Given the description of an element on the screen output the (x, y) to click on. 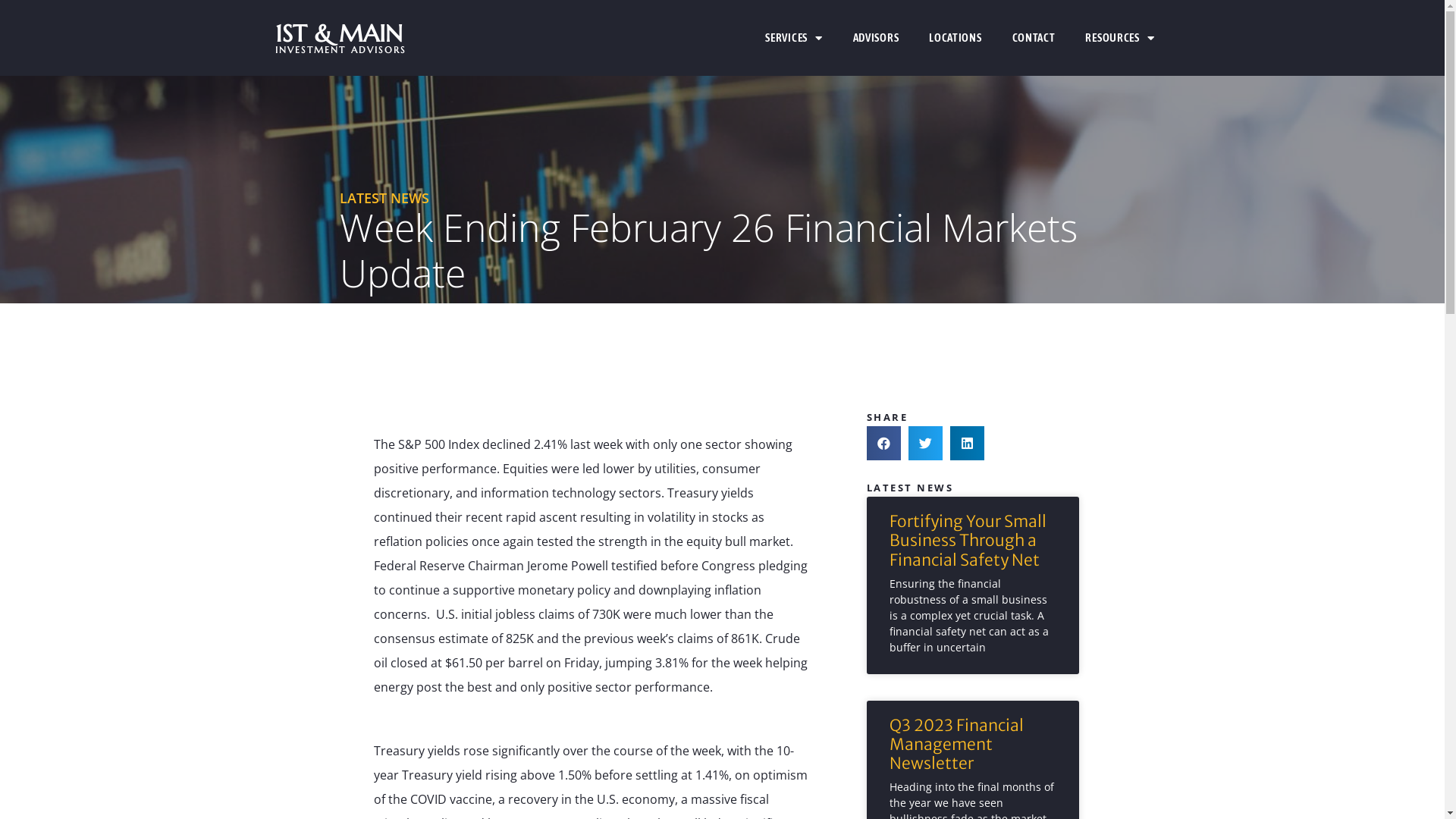
CONTACT Element type: text (1033, 37)
Q3 2023 Financial Management Newsletter Element type: text (955, 744)
SERVICES Element type: text (793, 37)
LOCATIONS Element type: text (954, 37)
RESOURCES Element type: text (1119, 37)
ADVISORS Element type: text (875, 37)
